Given the description of an element on the screen output the (x, y) to click on. 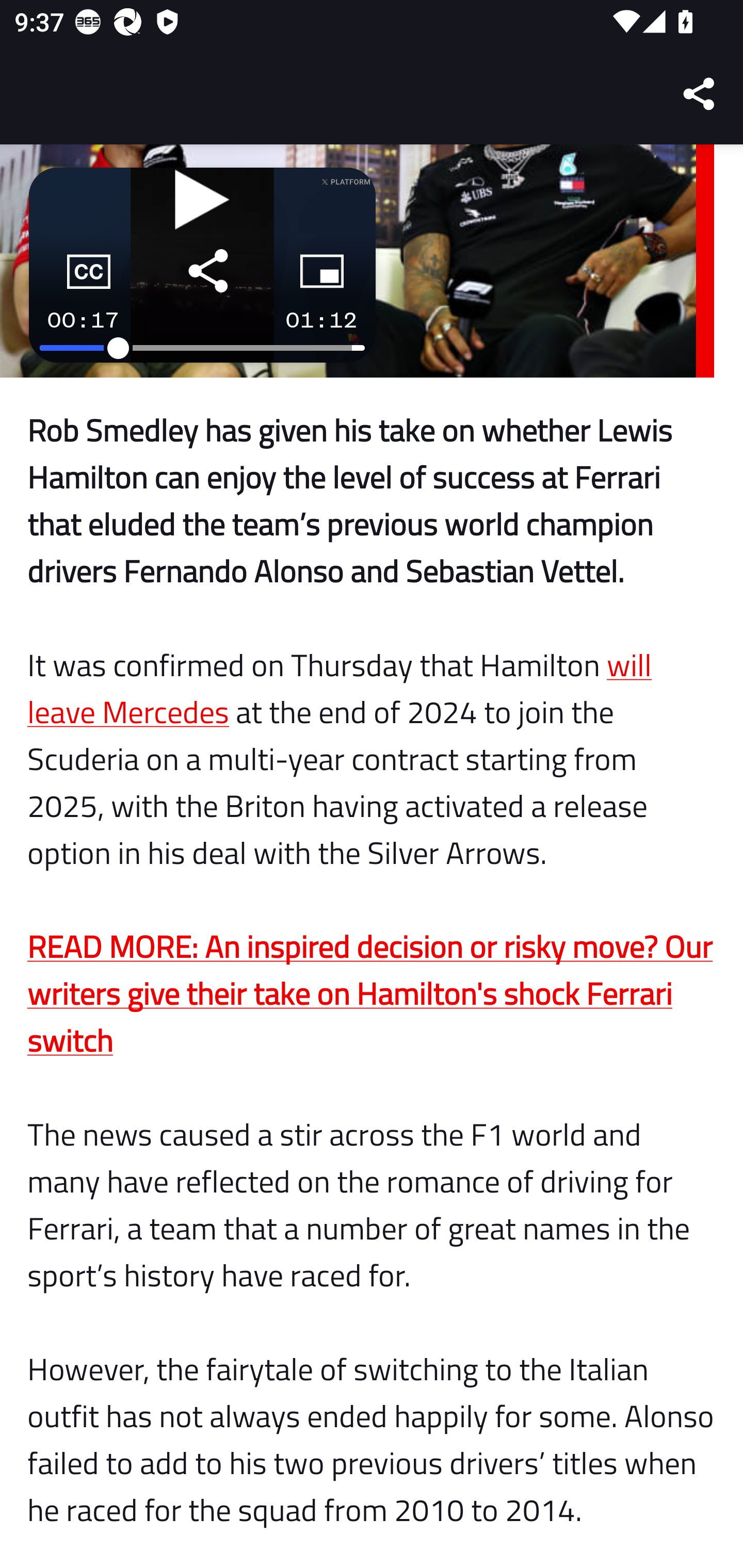
Share (699, 93)
